Given the description of an element on the screen output the (x, y) to click on. 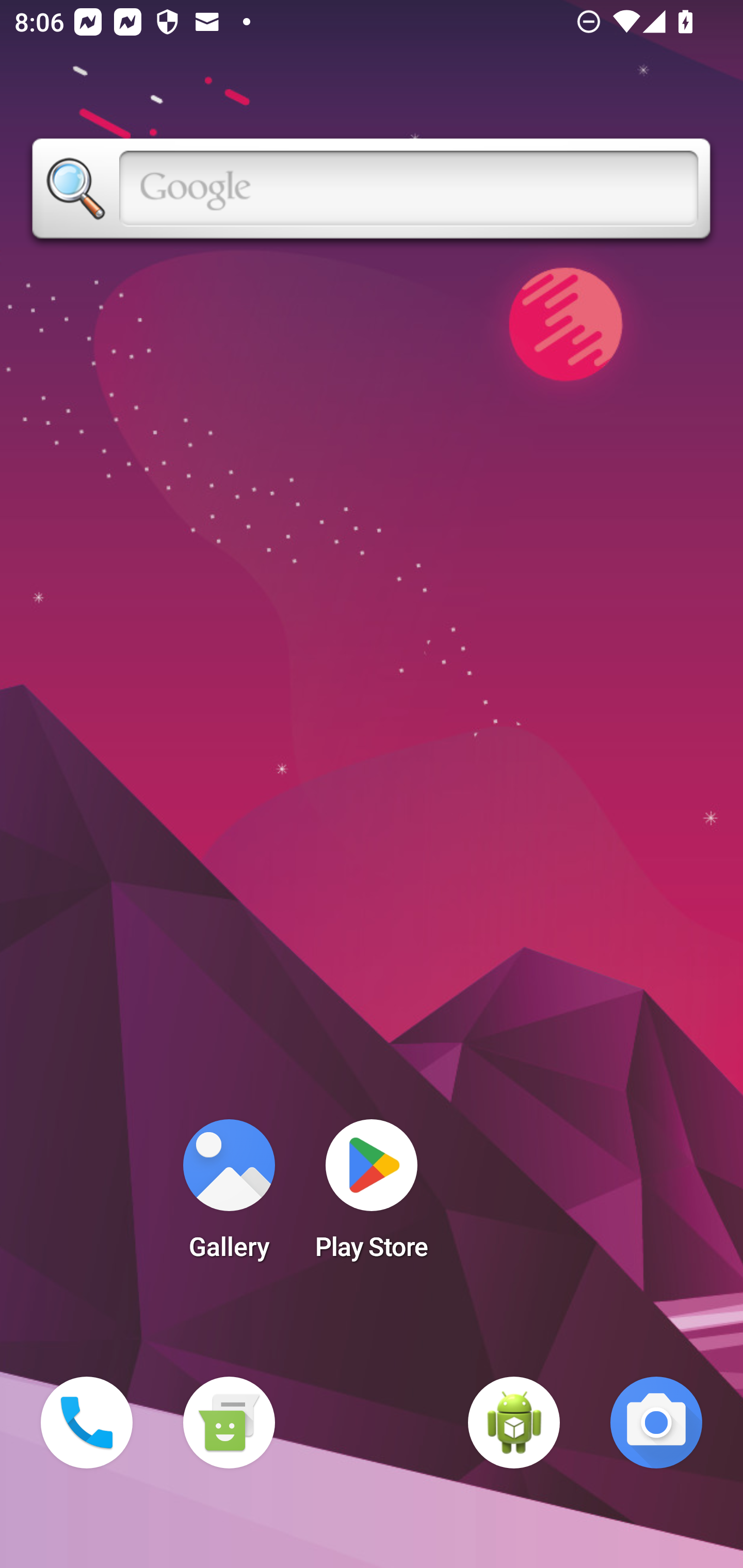
Gallery (228, 1195)
Play Store (371, 1195)
Phone (86, 1422)
Messaging (228, 1422)
WebView Browser Tester (513, 1422)
Camera (656, 1422)
